Given the description of an element on the screen output the (x, y) to click on. 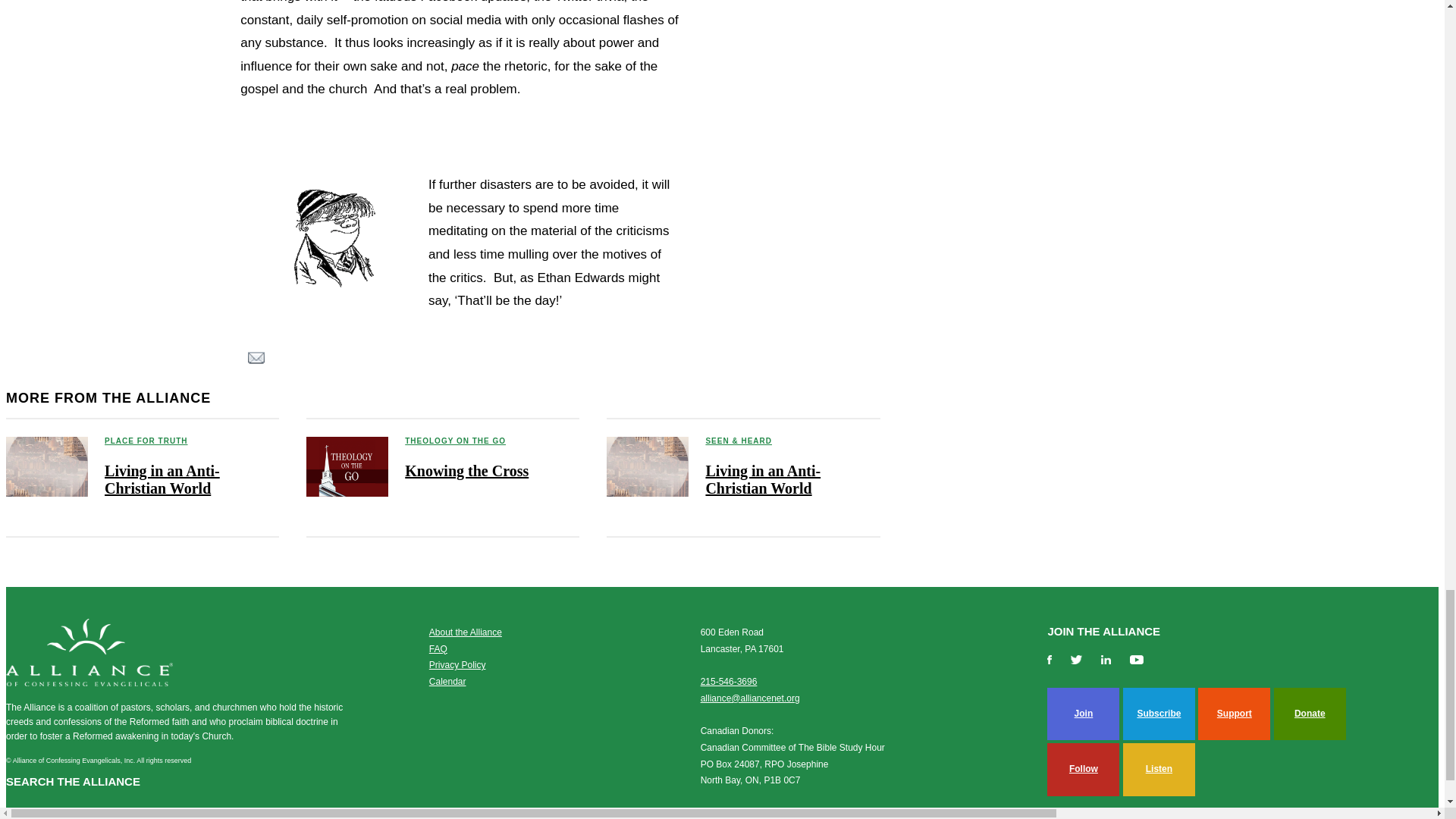
Knowing the Cross (466, 470)
Living in an Anti-Christian World (762, 479)
Place for Truth (145, 440)
Place for Truth (454, 440)
Living in an Anti-Christian World (161, 479)
Share this page through e-mail. Local e-mail client needed. (255, 359)
